Given the description of an element on the screen output the (x, y) to click on. 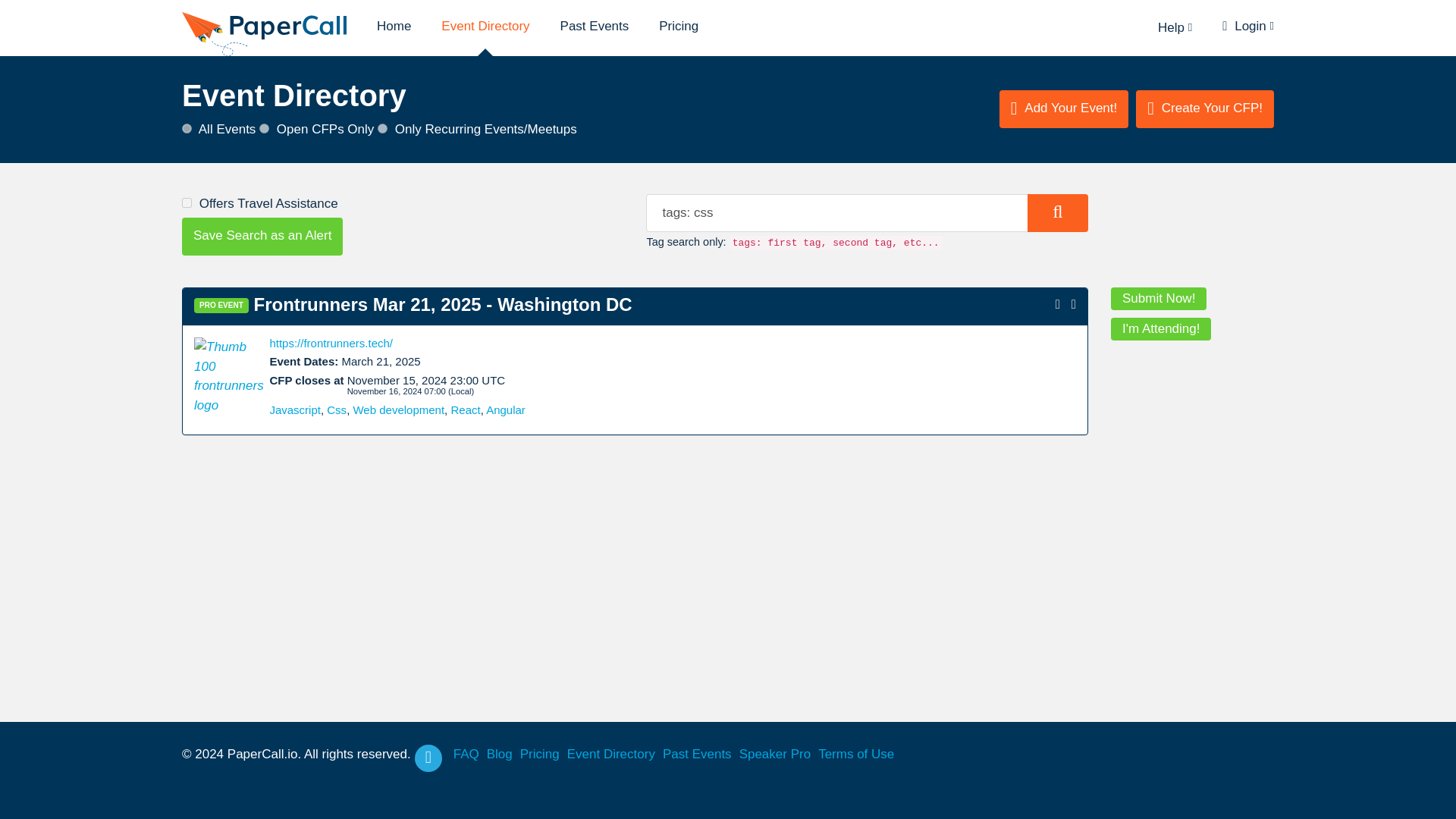
Css (336, 409)
true (187, 203)
November 16, 2024 at 7:00am  (397, 390)
Web development (398, 409)
React (464, 409)
I'm Attending! (1160, 328)
Javascript (294, 409)
Frontrunners Mar 21, 2025 - Washington DC (442, 304)
open (264, 128)
Add Your Event! (1063, 108)
